Given the description of an element on the screen output the (x, y) to click on. 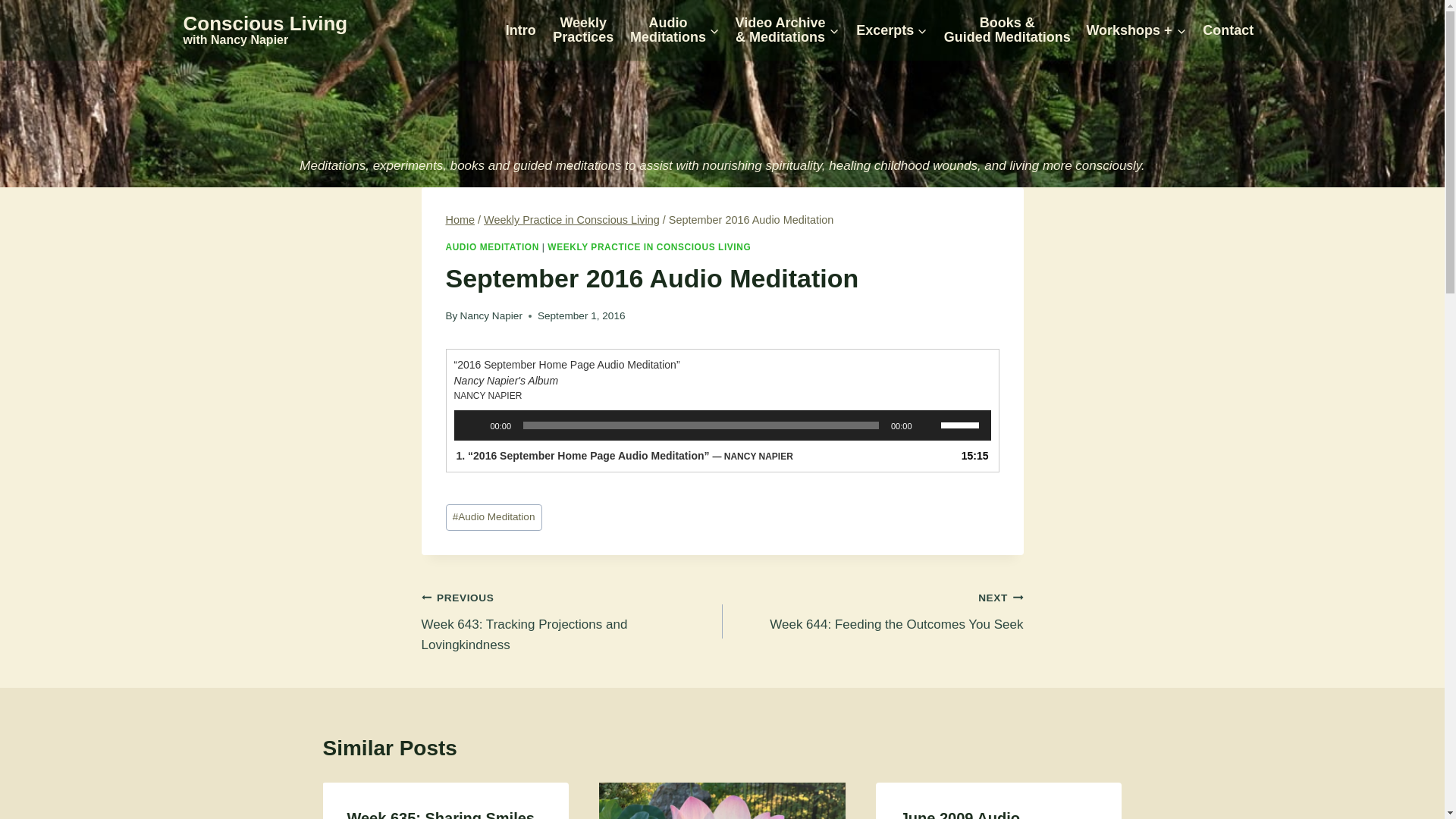
Weekly Practice in Conscious Living (571, 219)
Contact (872, 610)
Play (1227, 30)
Home (472, 425)
Mute (460, 219)
Weekly Practices  in Conscious Living (928, 425)
AUDIO MEDITATION (582, 30)
